Given the description of an element on the screen output the (x, y) to click on. 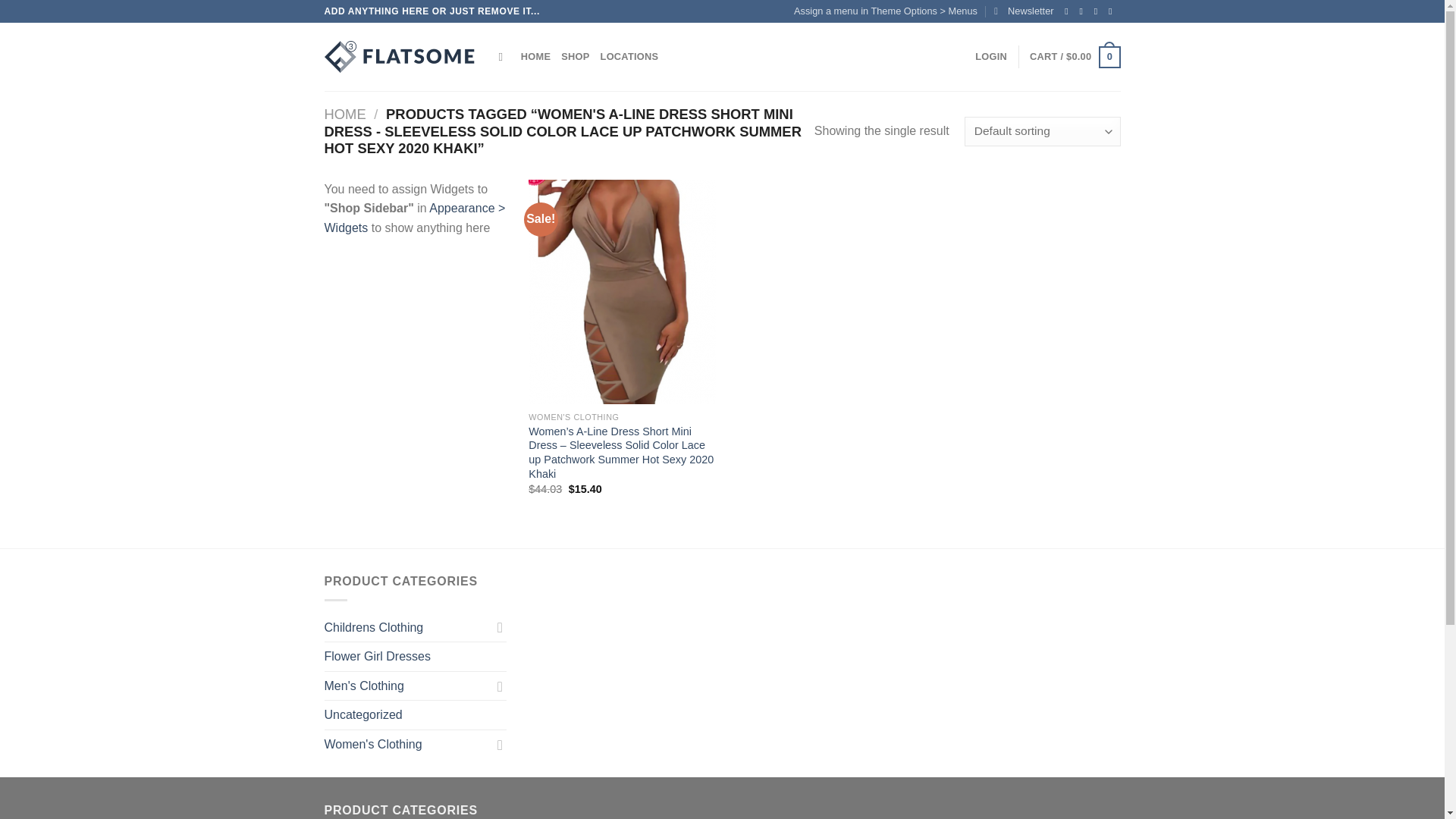
Men's Clothing (407, 686)
LOCATIONS (629, 56)
Uncategorized (415, 715)
Flower Girl Dresses (415, 656)
LOGIN (991, 56)
HOME (535, 56)
Women's Clothing (407, 744)
Cart (1074, 57)
HOME (345, 114)
Newsletter (1023, 11)
SHOP (574, 56)
eFashionz - Just another WordPress site (400, 56)
Childrens Clothing (407, 627)
